Given the description of an element on the screen output the (x, y) to click on. 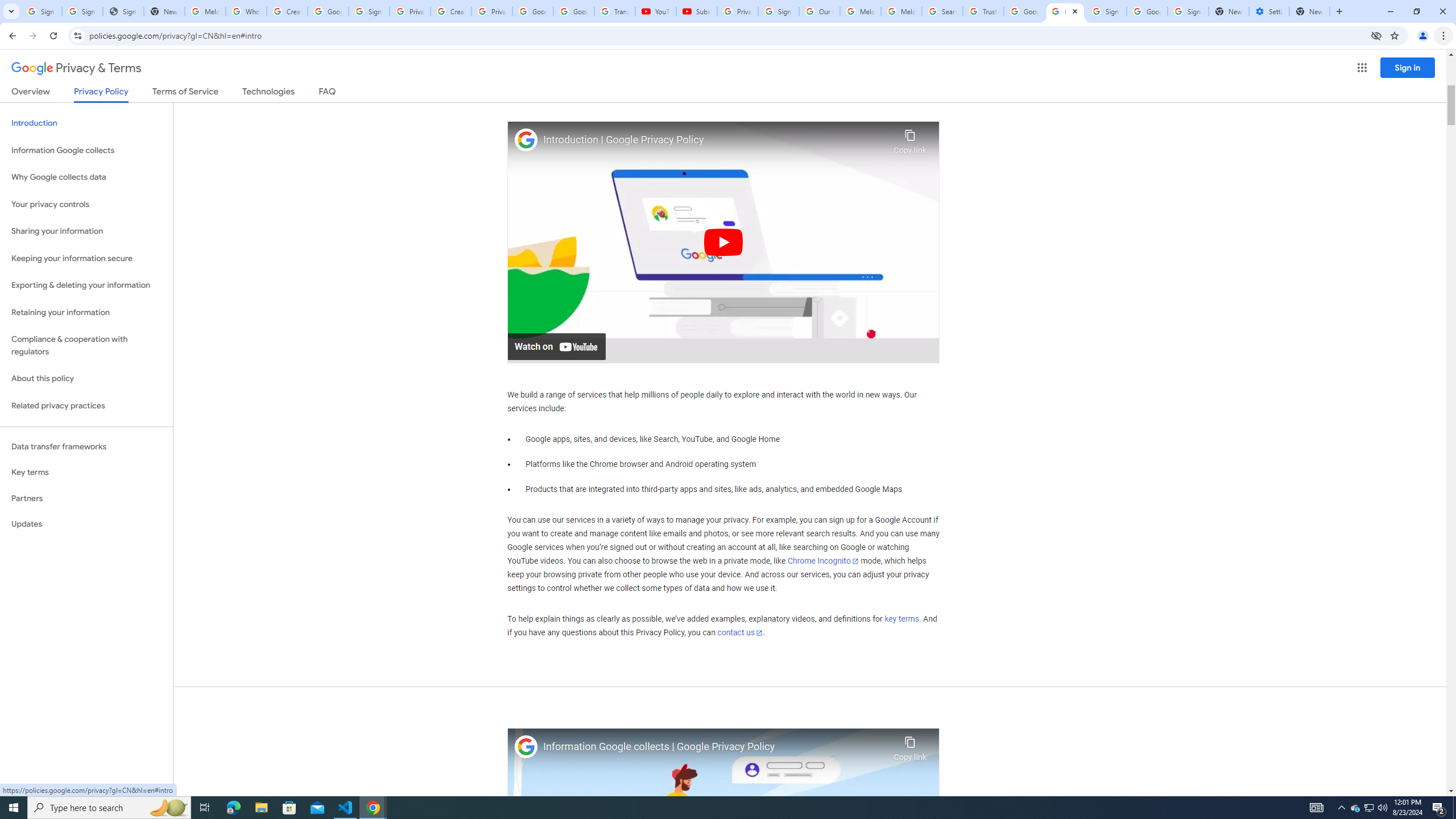
Google Account (573, 11)
Retaining your information (86, 312)
Sign in - Google Accounts (777, 11)
Introduction | Google Privacy Policy (715, 139)
Partners (86, 497)
Why Google collects data (86, 176)
Subscriptions - YouTube (696, 11)
YouTube (655, 11)
